Given the description of an element on the screen output the (x, y) to click on. 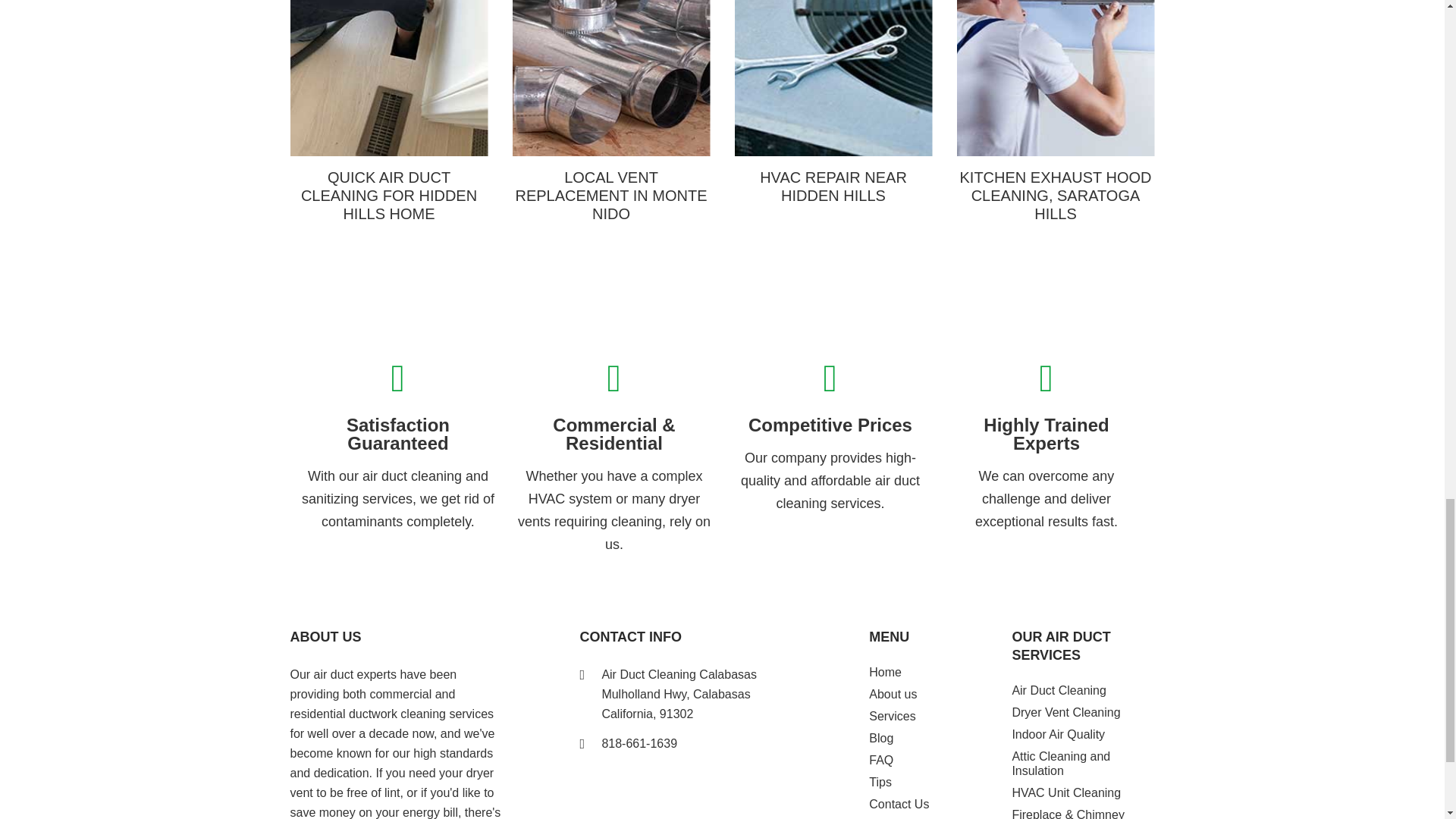
HVAC REPAIR NEAR HIDDEN HILLS (832, 102)
LOCAL VENT REPLACEMENT IN MONTE NIDO (611, 111)
QUICK AIR DUCT CLEANING FOR HIDDEN HILLS HOME (388, 111)
KITCHEN EXHAUST HOOD CLEANING, SARATOGA HILLS (1055, 111)
